Given the description of an element on the screen output the (x, y) to click on. 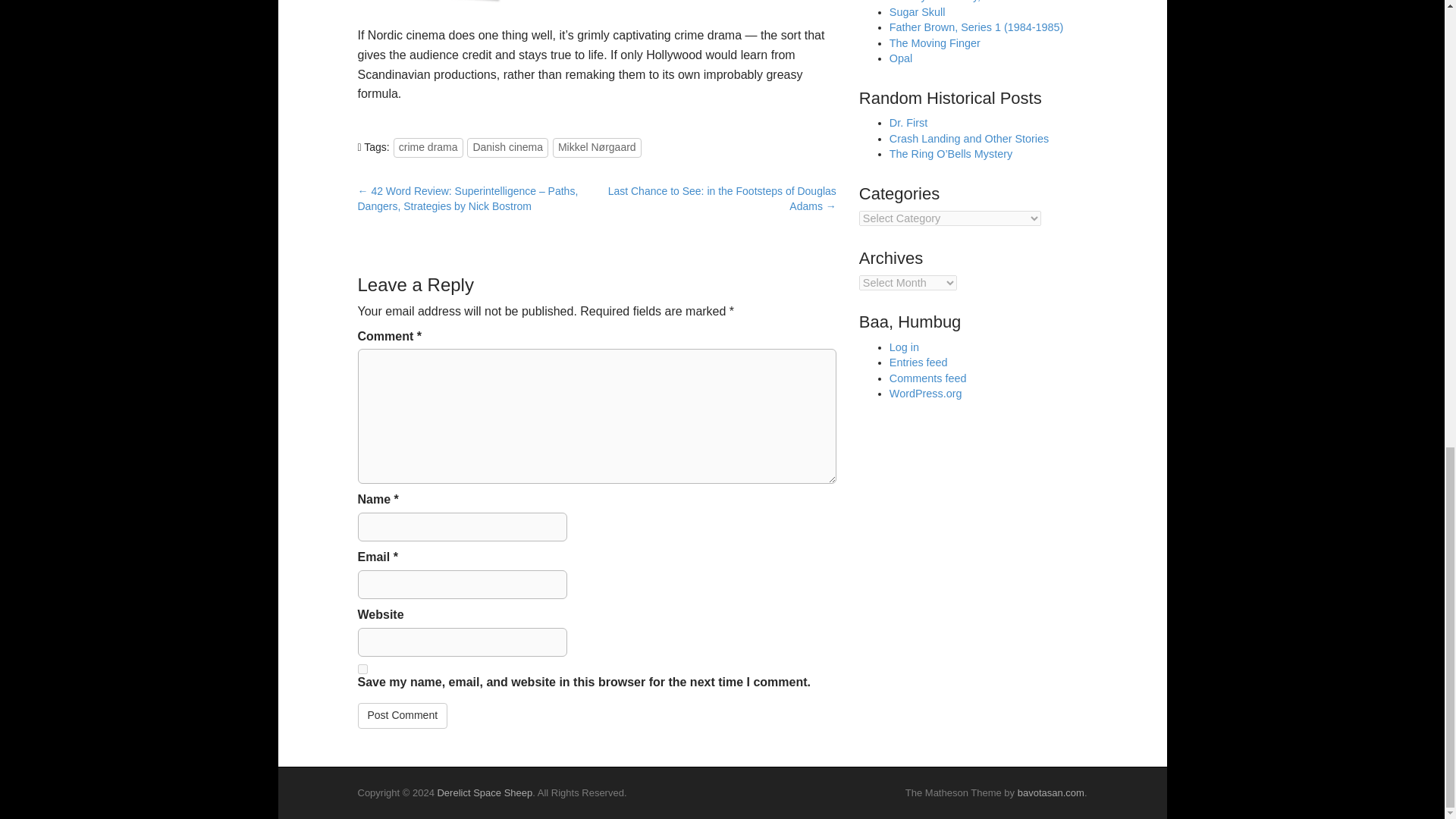
Danish cinema (507, 148)
crime drama (428, 148)
yes (363, 669)
Post Comment (403, 715)
Post Comment (403, 715)
